Given the description of an element on the screen output the (x, y) to click on. 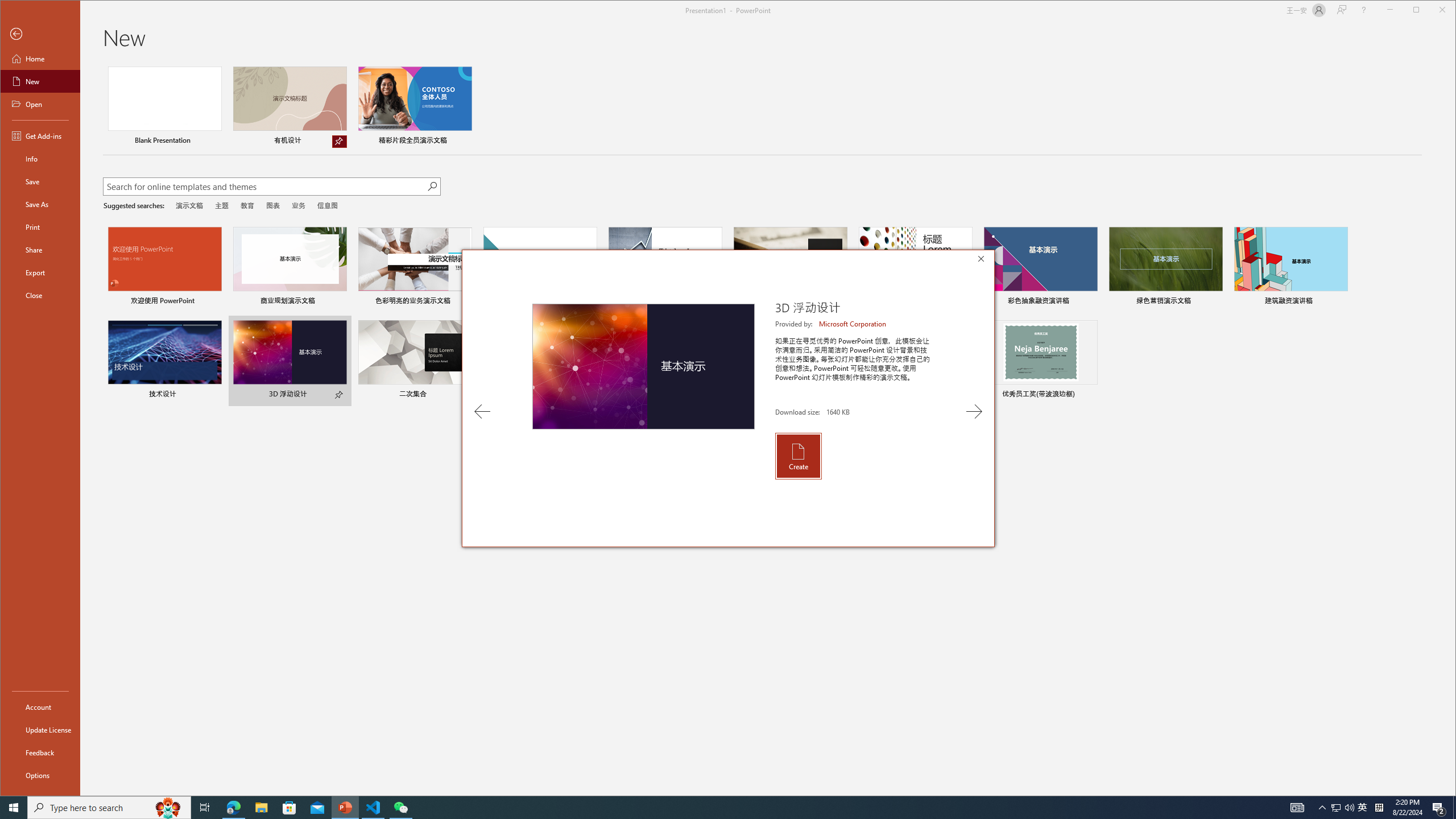
Search for online templates and themes (264, 187)
Microsoft Corporation (853, 323)
Print (40, 226)
Back (40, 34)
Get Add-ins (40, 135)
Running applications (707, 807)
Create (797, 455)
